Given the description of an element on the screen output the (x, y) to click on. 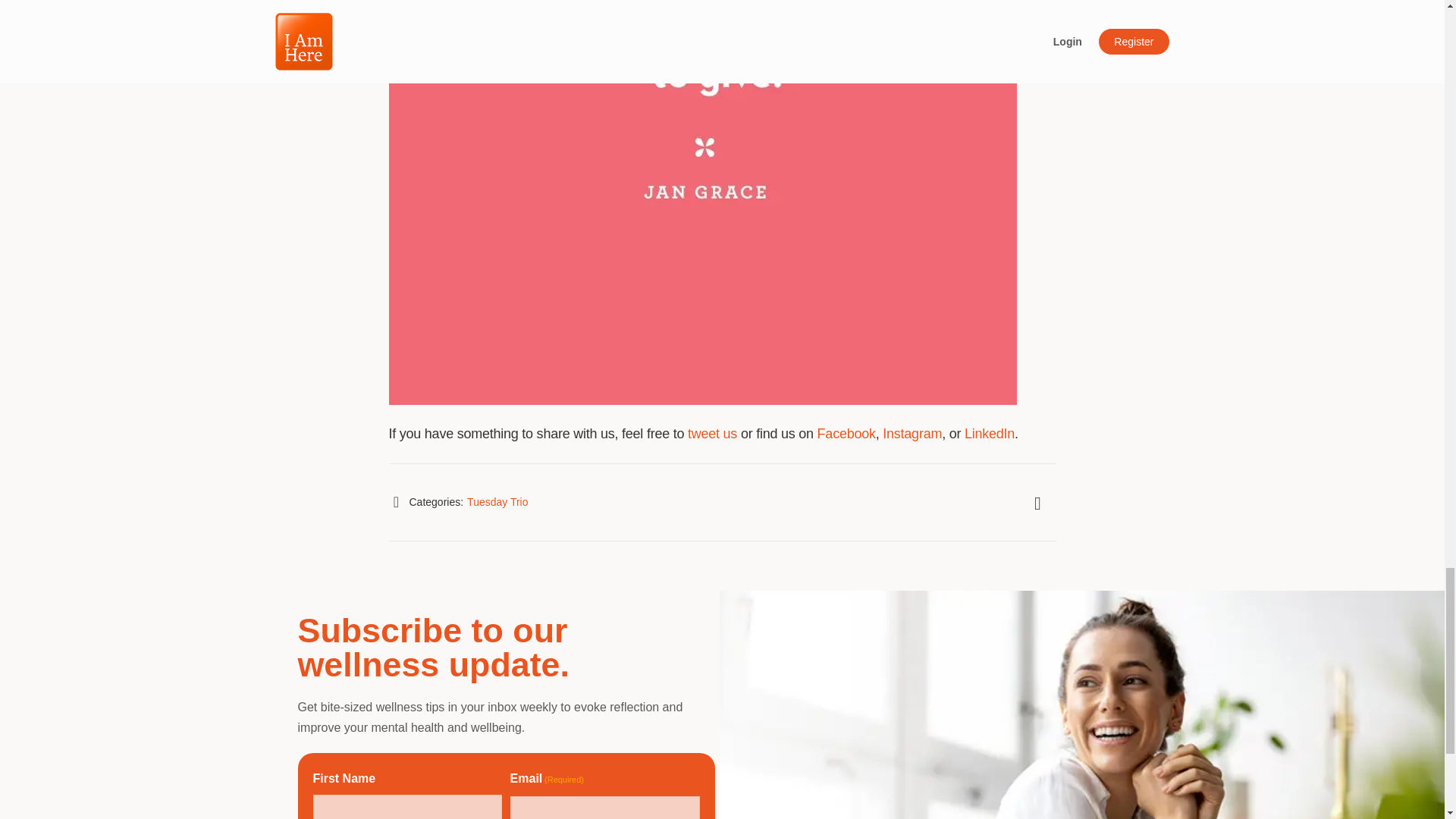
tweet us (711, 433)
Facebook (846, 433)
Instagram (912, 433)
Tuesday Trio (497, 501)
LinkedIn (988, 433)
